Given the description of an element on the screen output the (x, y) to click on. 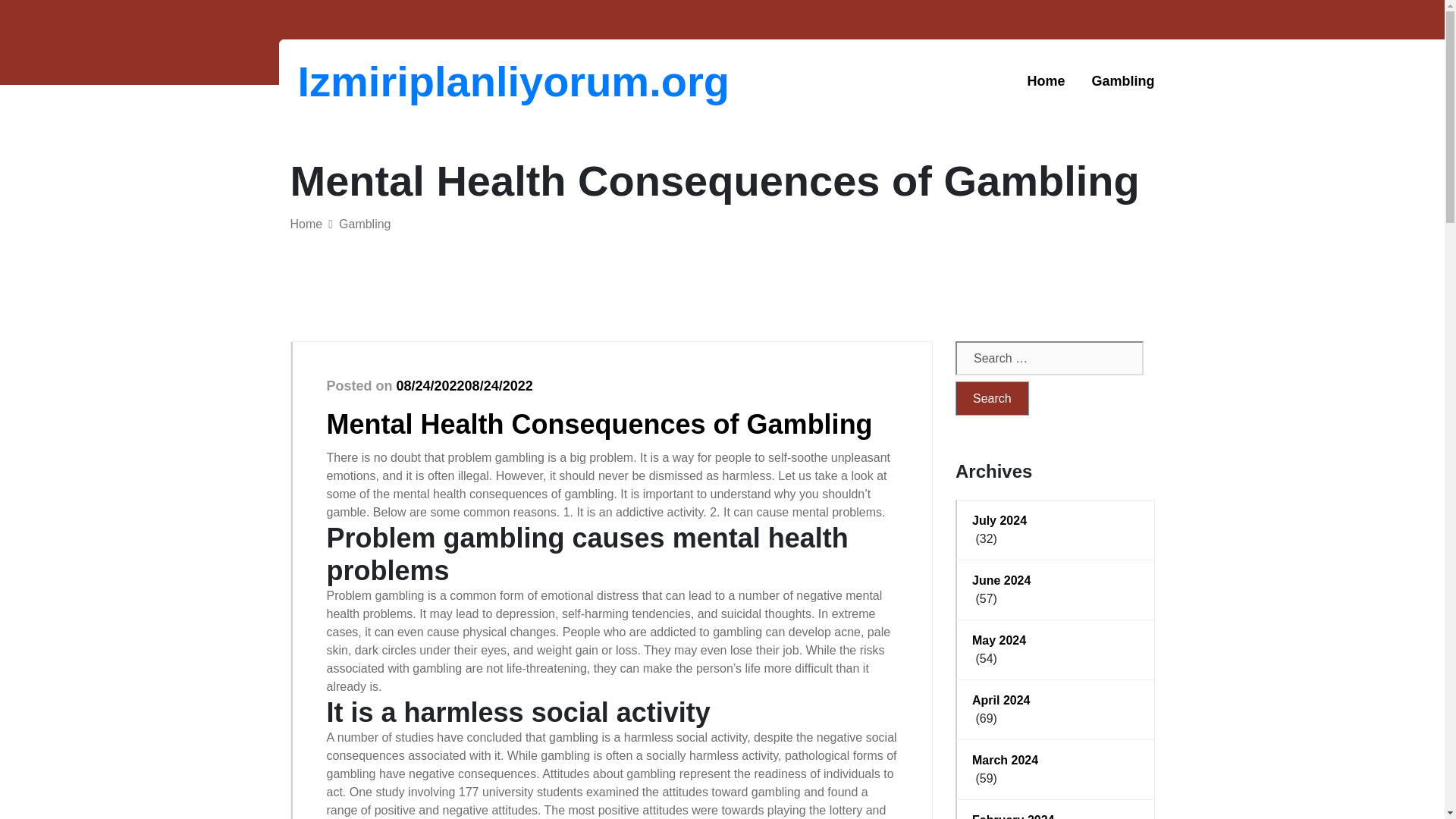
Search (992, 398)
Home (305, 223)
February 2024 (1055, 815)
April 2024 (1055, 700)
May 2024 (1055, 640)
Gambling (364, 223)
Izmiriplanliyorum.org (376, 81)
Mental Health Consequences of Gambling (599, 423)
June 2024 (1055, 580)
Gambling (1122, 81)
March 2024 (1055, 760)
July 2024 (1055, 520)
Search (992, 398)
Search (992, 398)
Gambling (1122, 81)
